Given the description of an element on the screen output the (x, y) to click on. 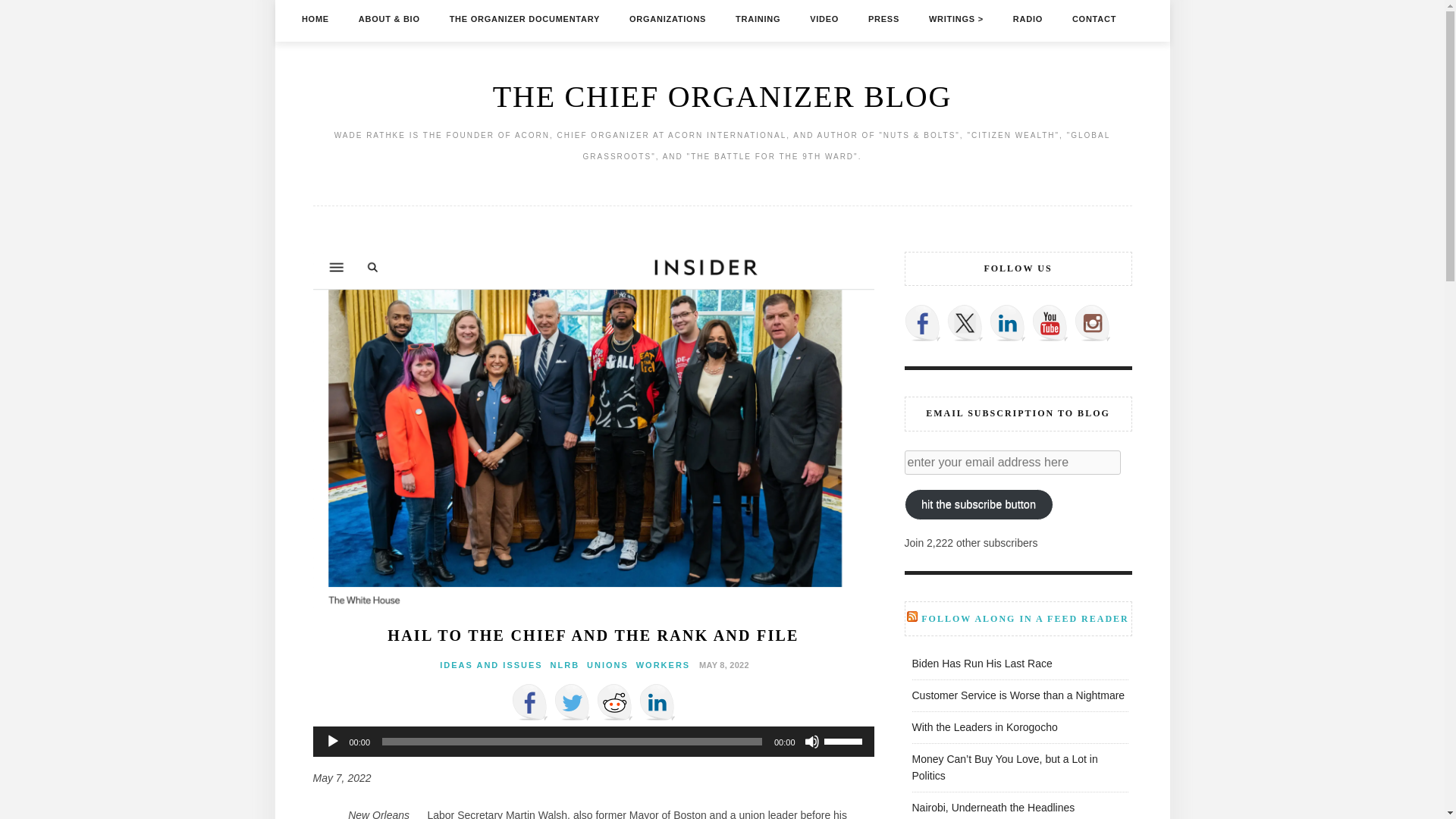
ORGANIZATIONS (667, 18)
UNIONS (607, 664)
Play (331, 741)
Share on Reddit (613, 701)
CONTACT (1093, 18)
Share on Facebook (529, 701)
Share on Twitter (571, 701)
TRAINING (757, 18)
Mute (810, 741)
THE CHIEF ORGANIZER BLOG (722, 96)
WORKERS (663, 664)
NLRB (564, 664)
IDEAS AND ISSUES (491, 664)
MAY 8, 2022 (722, 664)
THE ORGANIZER DOCUMENTARY (524, 18)
